Given the description of an element on the screen output the (x, y) to click on. 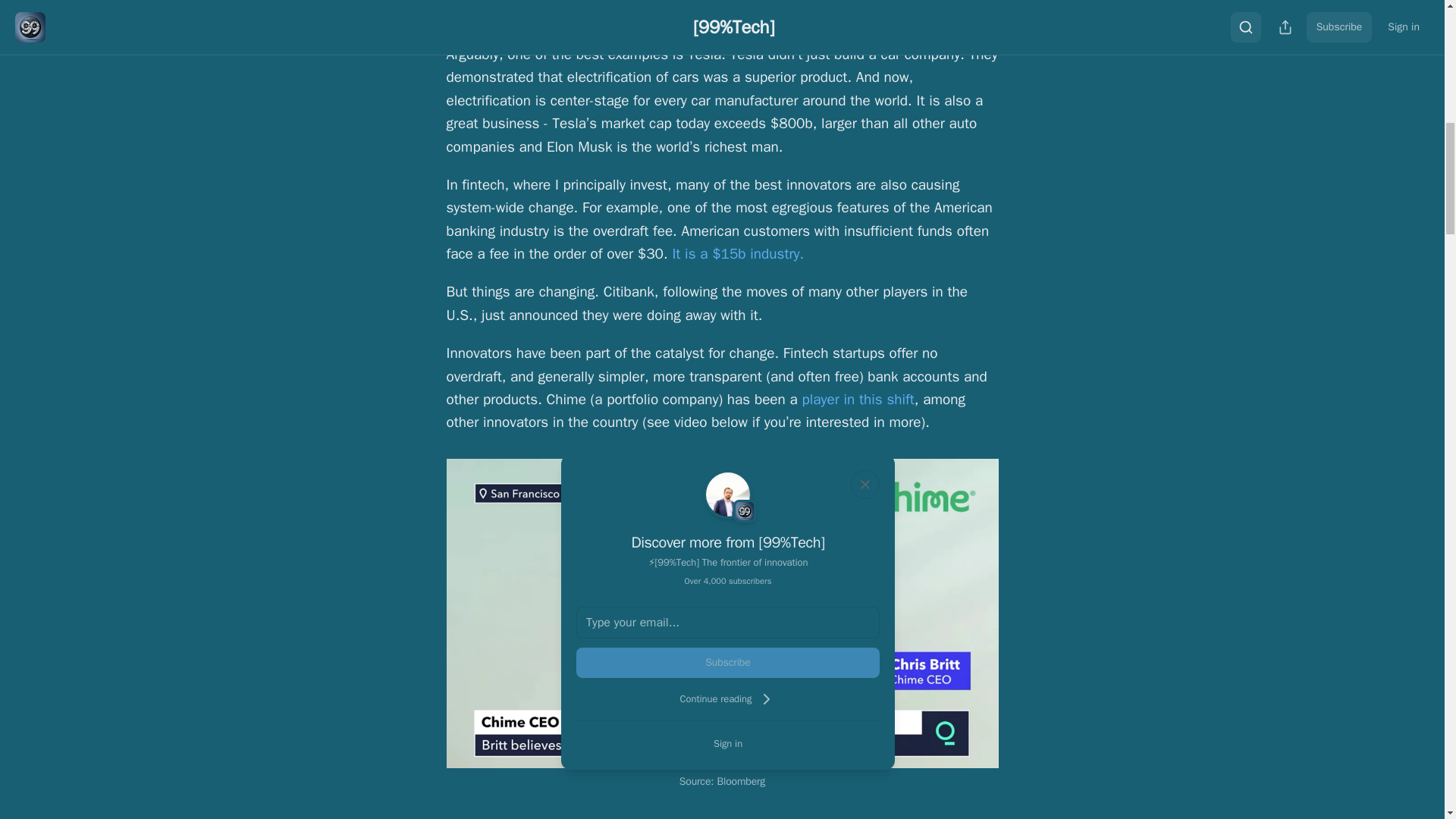
player in this shift (858, 399)
Sign in (727, 743)
Subscribe (727, 662)
